Given the description of an element on the screen output the (x, y) to click on. 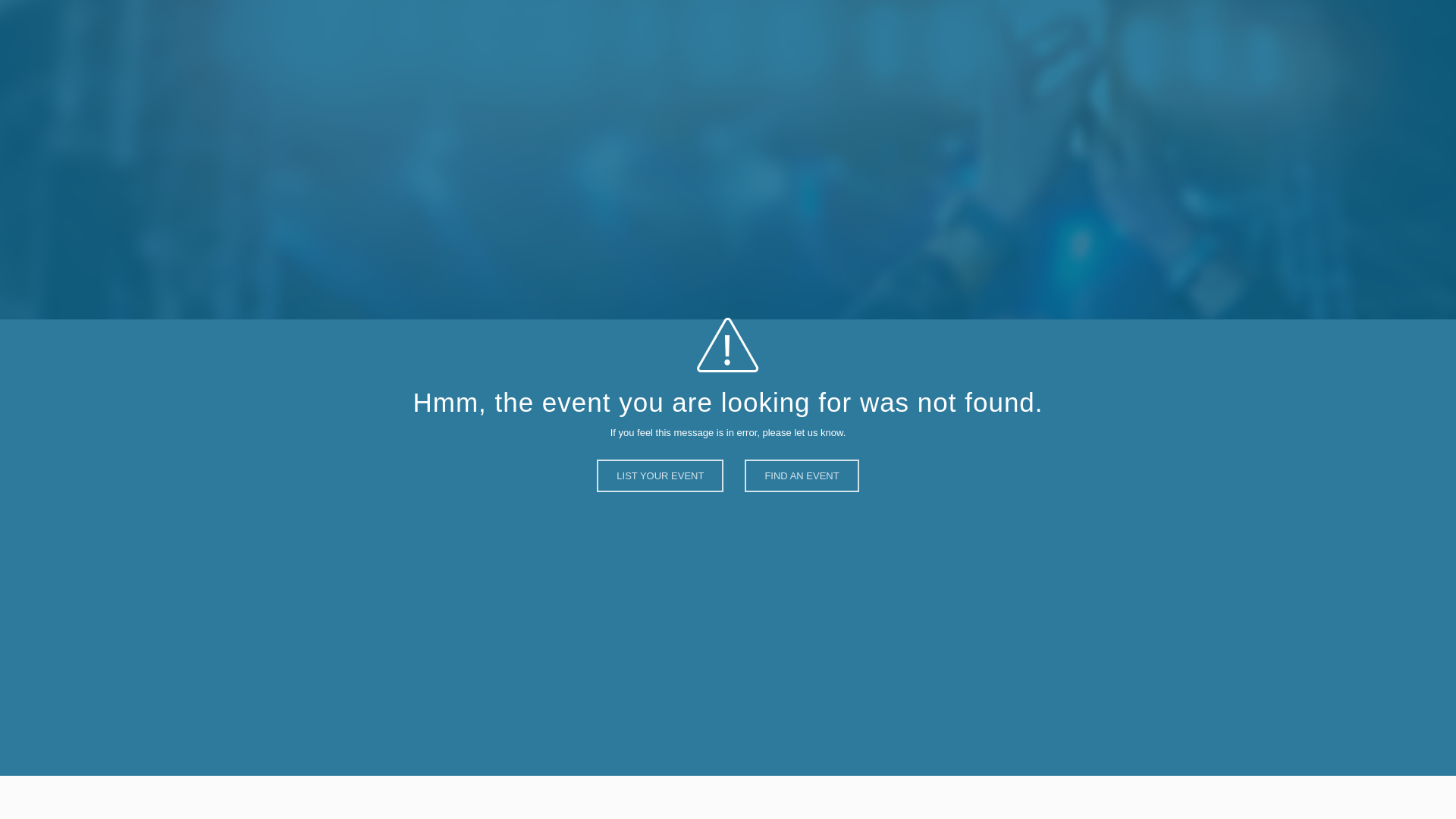
LIST YOUR EVENT (659, 490)
FIND AN EVENT (801, 490)
